Given the description of an element on the screen output the (x, y) to click on. 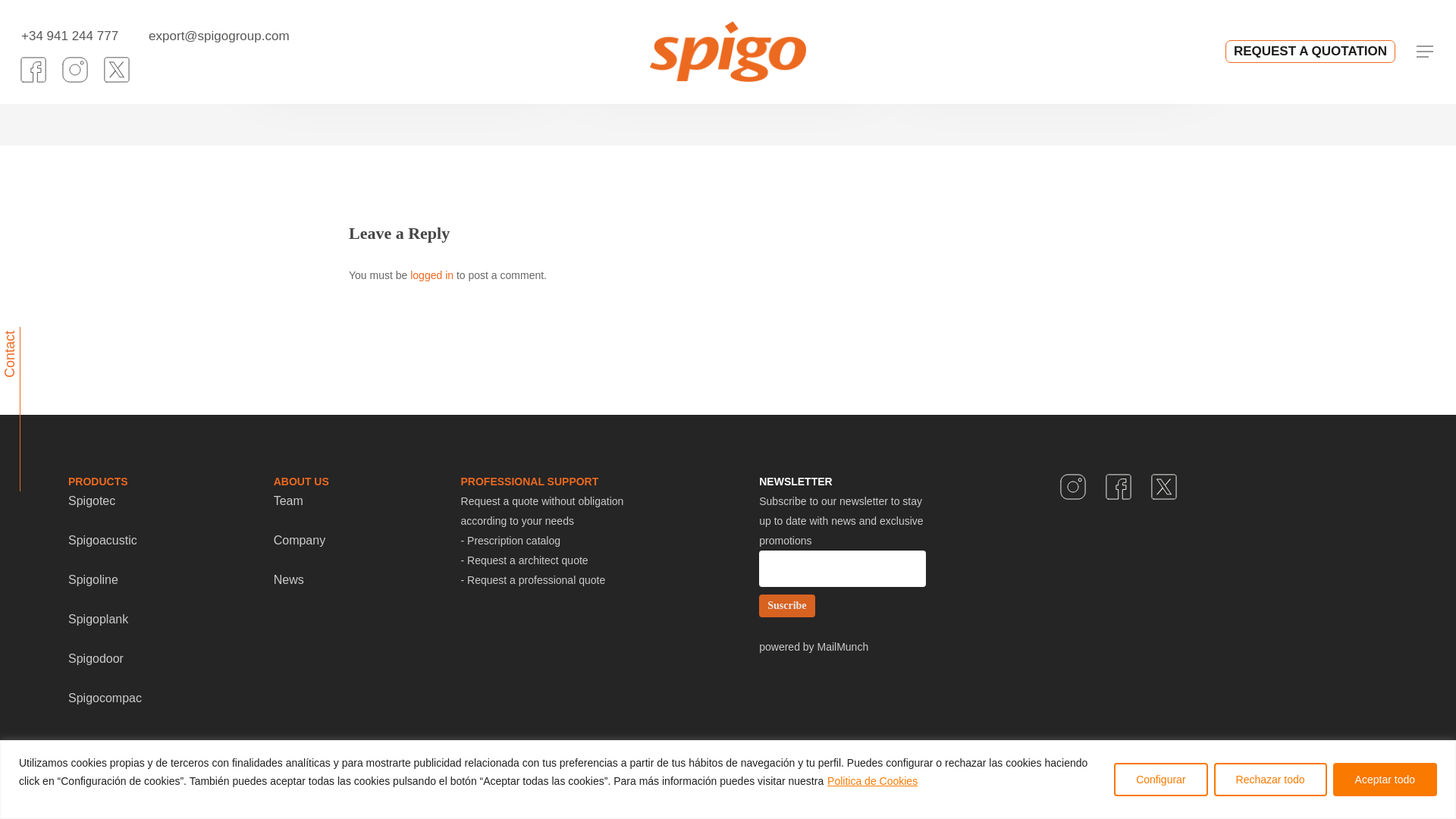
Suscribe (785, 605)
